Given the description of an element on the screen output the (x, y) to click on. 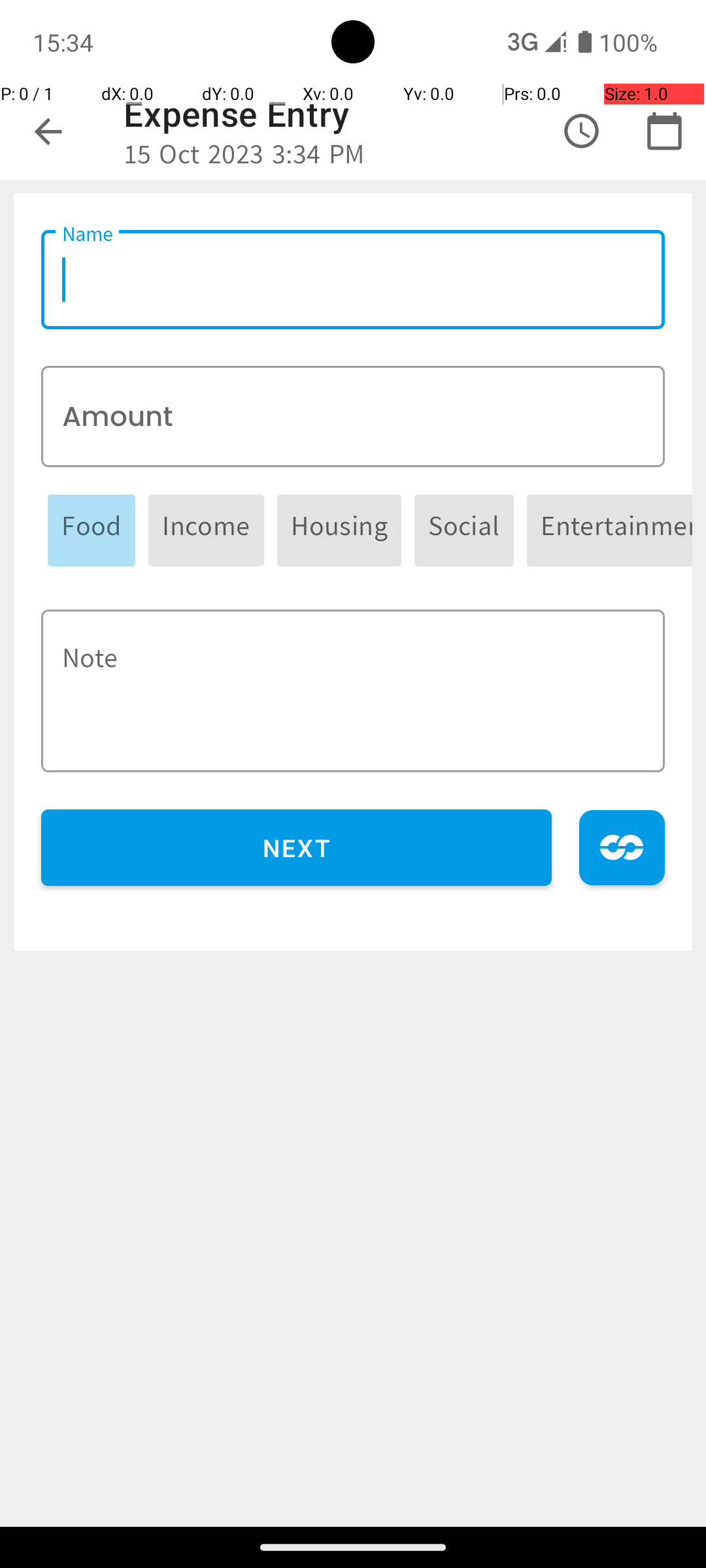
NEXT Element type: android.widget.Button (296, 847)
